Given the description of an element on the screen output the (x, y) to click on. 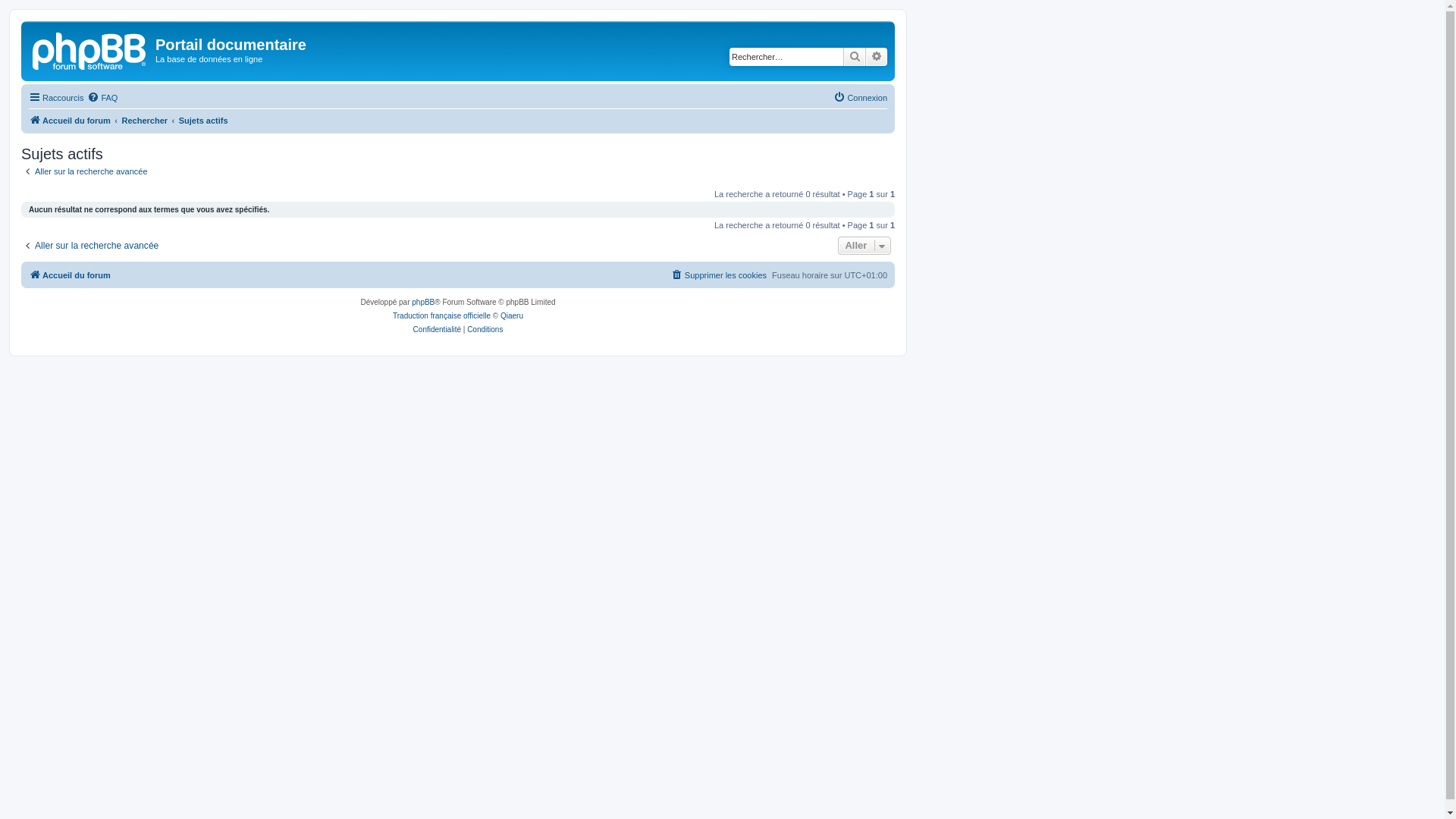
Accueil du forum Element type: hover (90, 49)
Rechercher Element type: text (854, 56)
phpBB Element type: text (422, 302)
Supprimer les cookies Element type: text (718, 275)
Qiaeru Element type: text (511, 316)
FAQ Element type: text (102, 97)
Raccourcis Element type: text (55, 97)
Accueil du forum Element type: text (69, 120)
Accueil du forum Element type: text (69, 275)
Rechercher Element type: text (145, 120)
Sujets actifs Element type: text (203, 120)
Conditions Element type: text (484, 329)
Connexion Element type: text (860, 97)
